Given the description of an element on the screen output the (x, y) to click on. 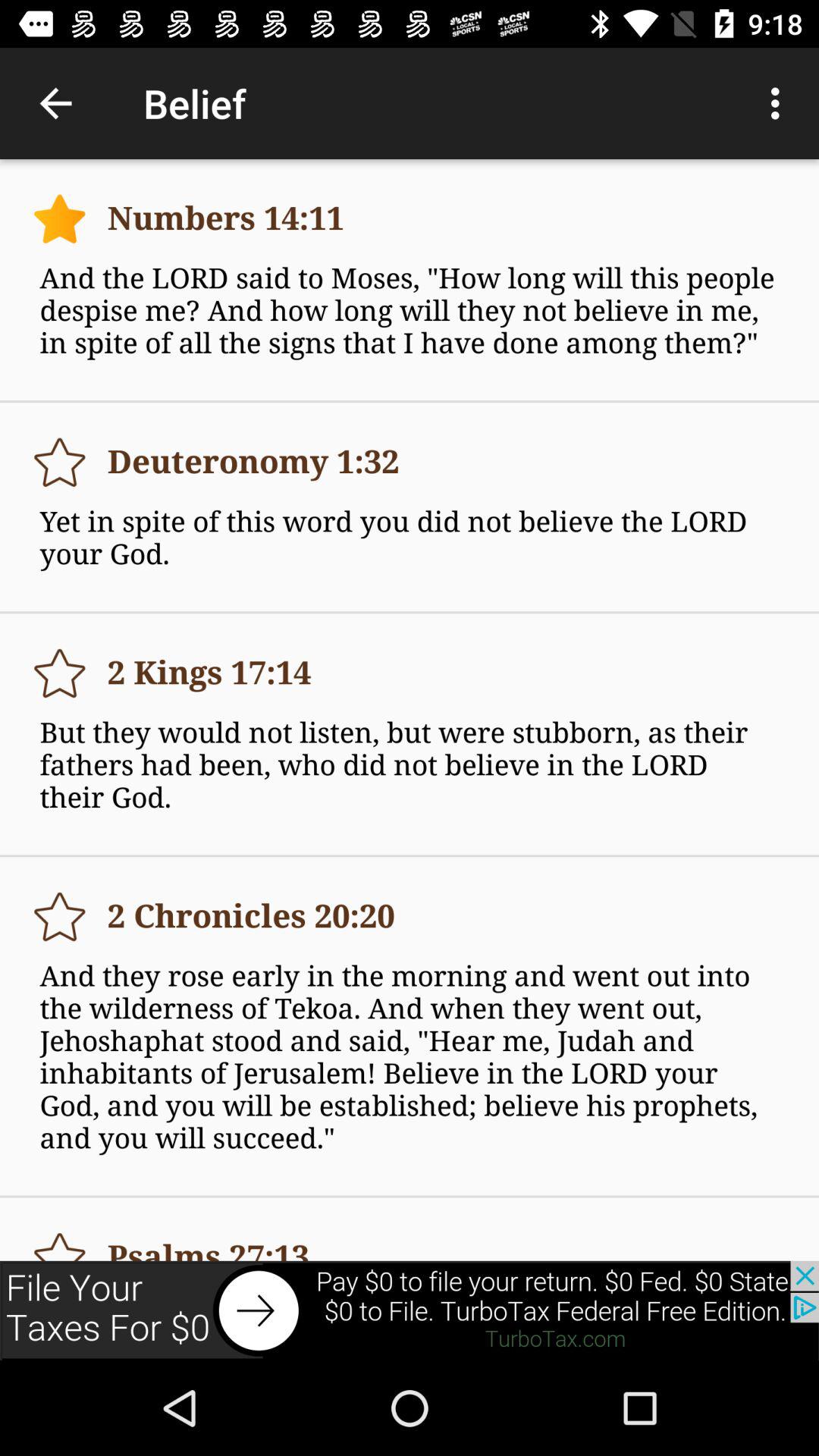
star button (59, 218)
